Given the description of an element on the screen output the (x, y) to click on. 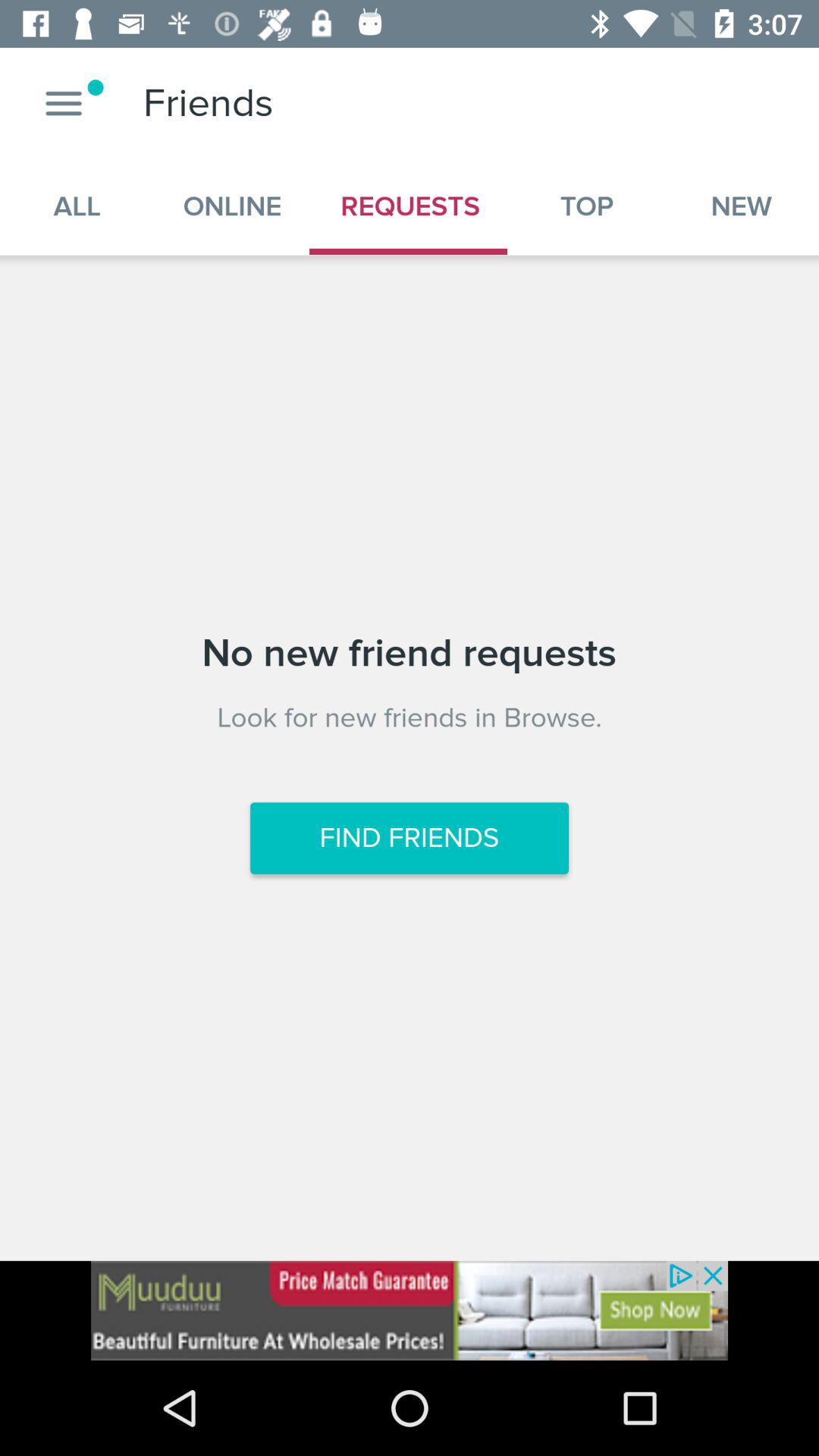
menu button (63, 103)
